Given the description of an element on the screen output the (x, y) to click on. 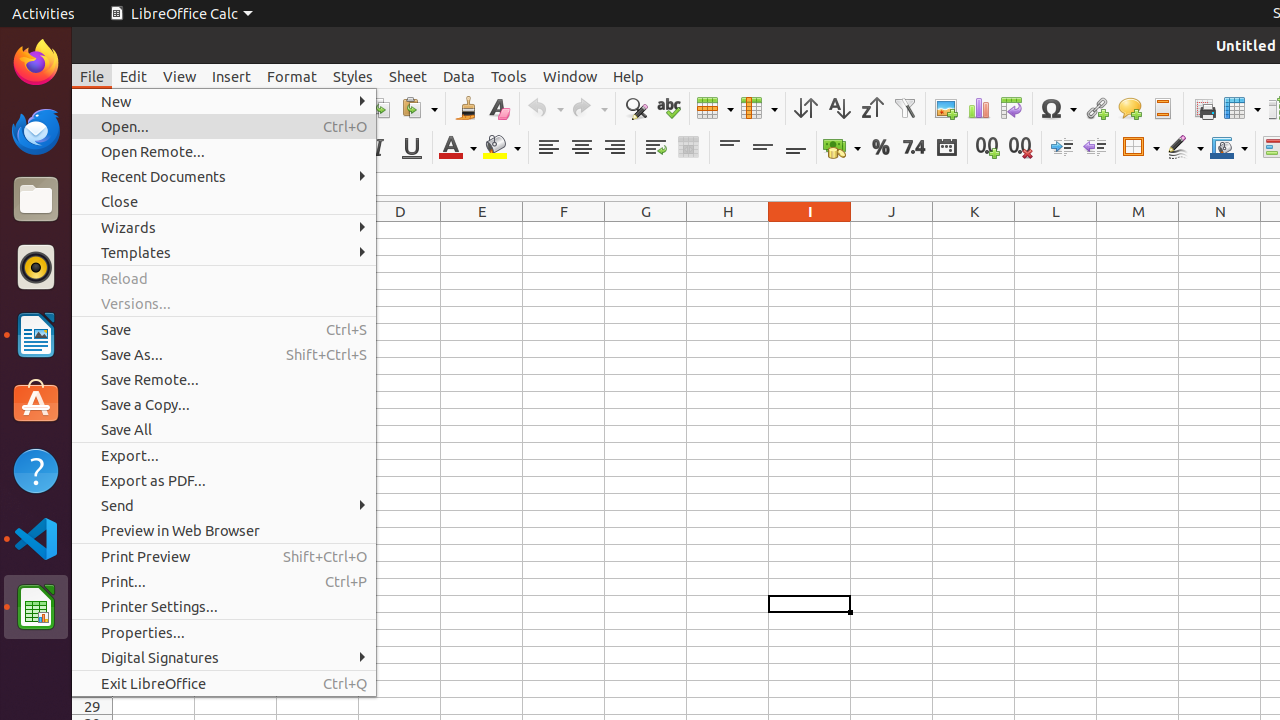
F1 Element type: table-cell (564, 230)
Background Color Element type: push-button (502, 147)
J1 Element type: table-cell (892, 230)
Spelling Element type: push-button (668, 108)
AutoFilter Element type: push-button (904, 108)
